Given the description of an element on the screen output the (x, y) to click on. 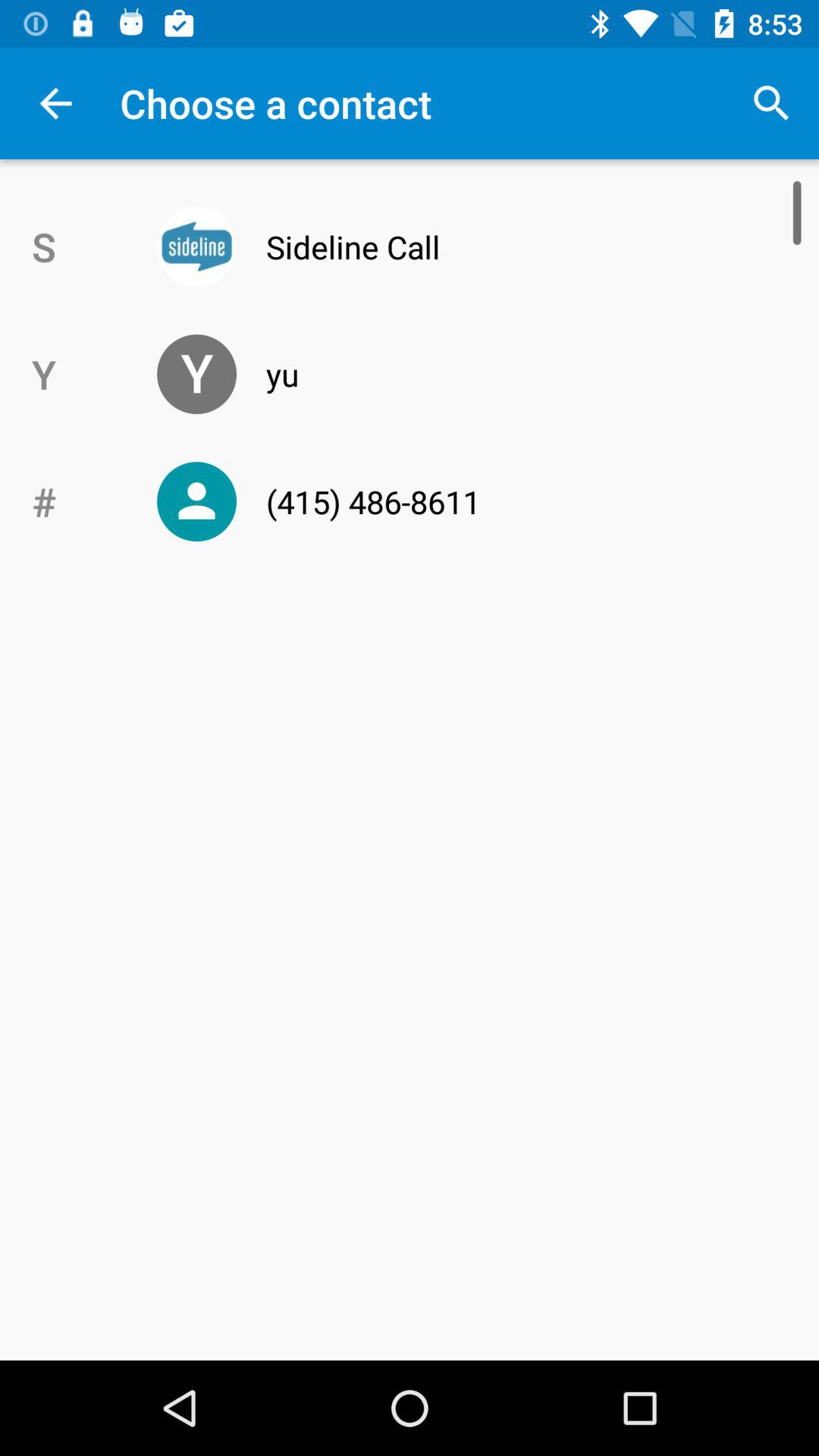
click on the contact icon (196, 501)
go to left of sideline calls (196, 246)
click on the top right corner (771, 103)
